Given the description of an element on the screen output the (x, y) to click on. 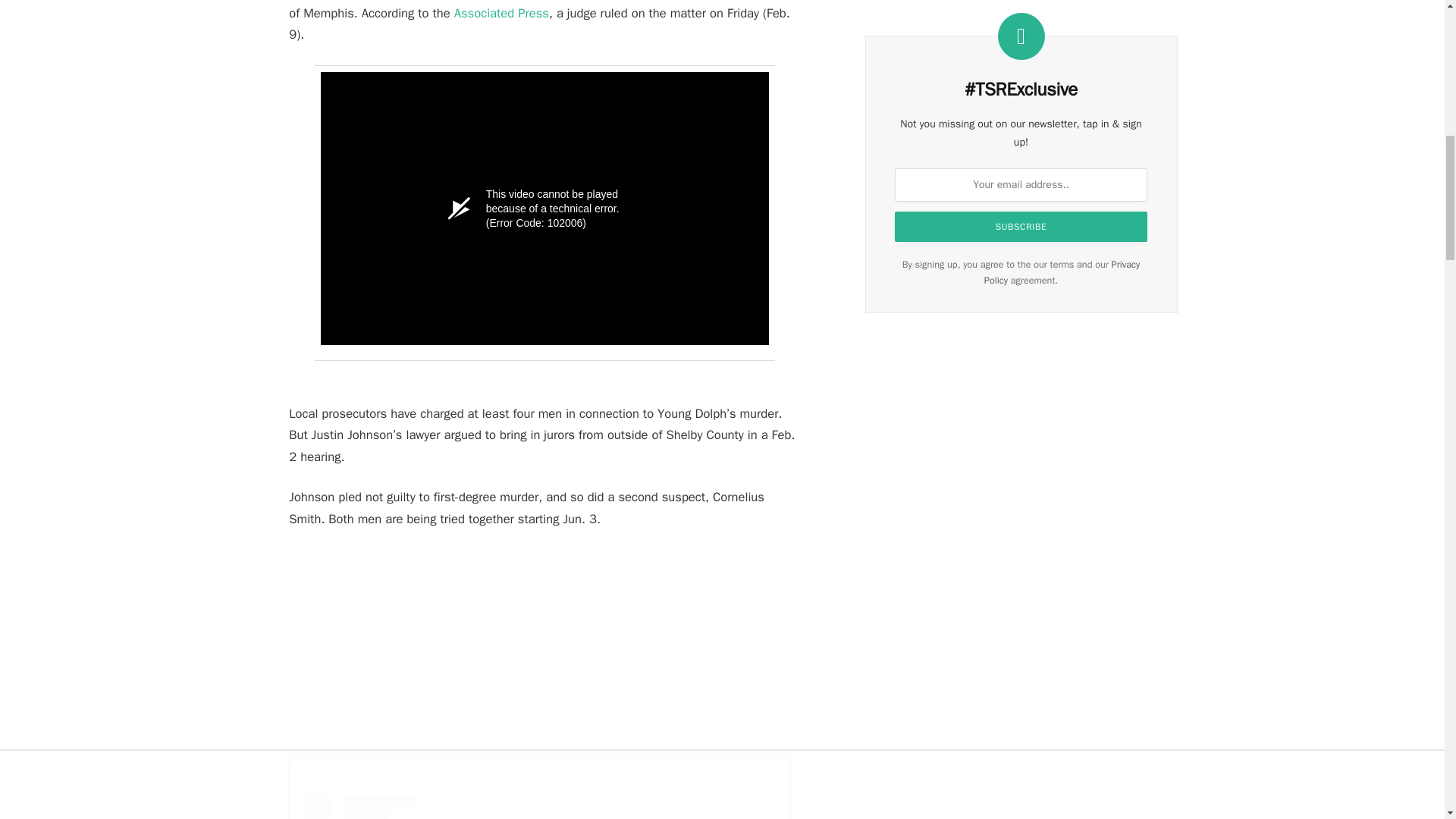
Subscribe (1021, 226)
